Given the description of an element on the screen output the (x, y) to click on. 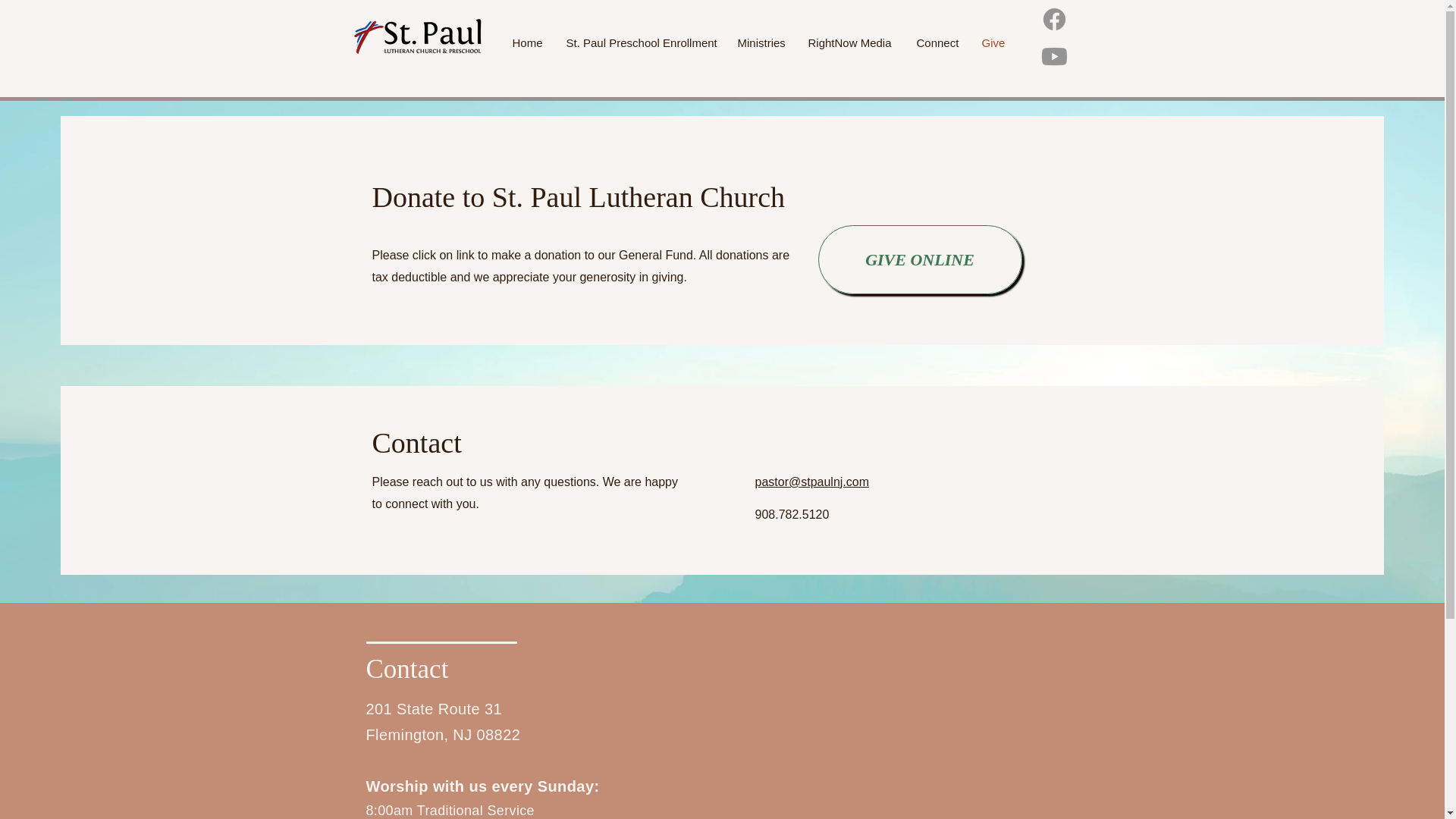
GIVE ONLINE (919, 259)
Connect (938, 42)
RightNow Media (850, 42)
St. Paul Preschool Enrollment (640, 42)
Ministries (761, 42)
